Given the description of an element on the screen output the (x, y) to click on. 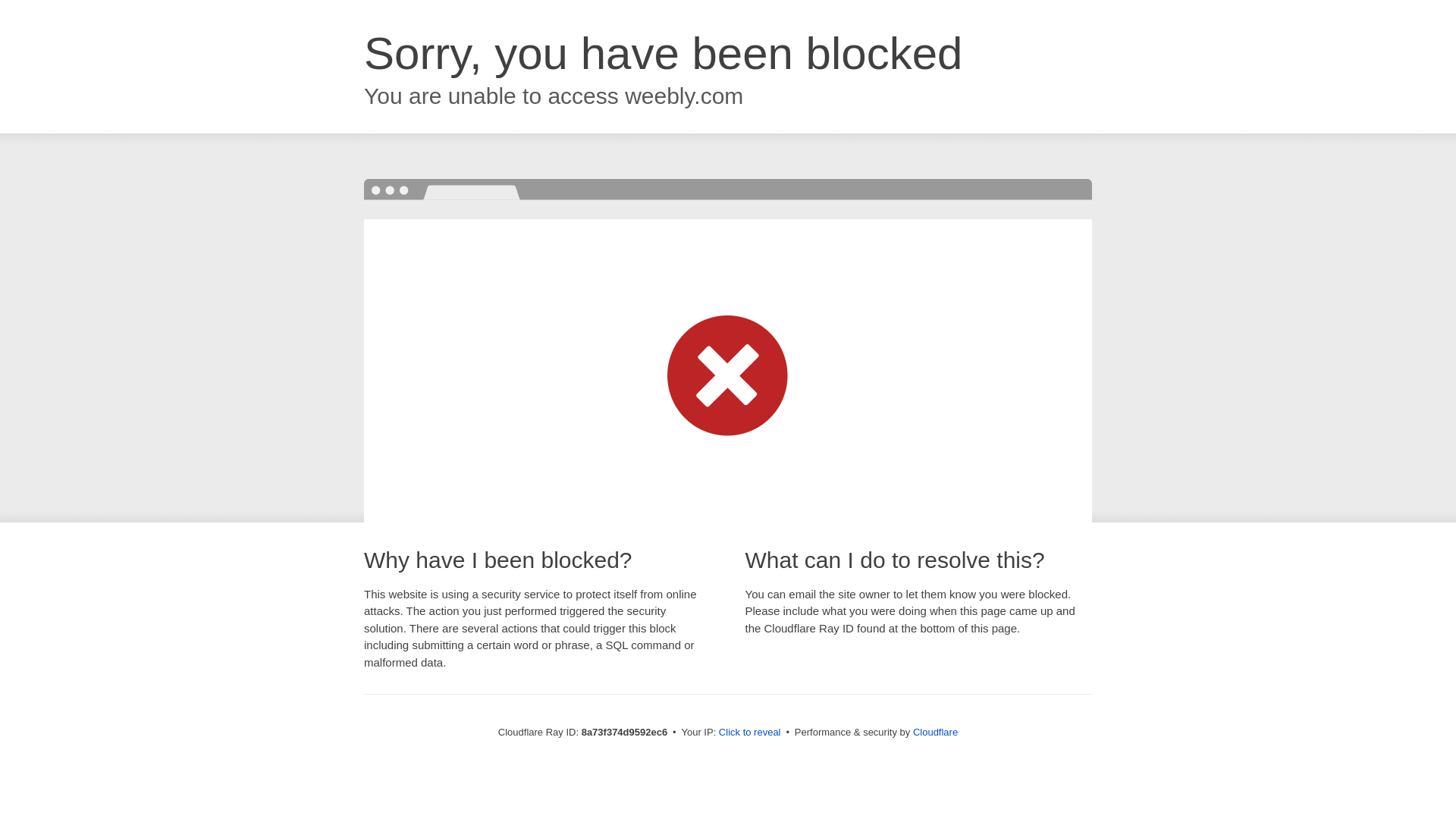
Click to reveal (749, 732)
Cloudflare (935, 731)
